Given the description of an element on the screen output the (x, y) to click on. 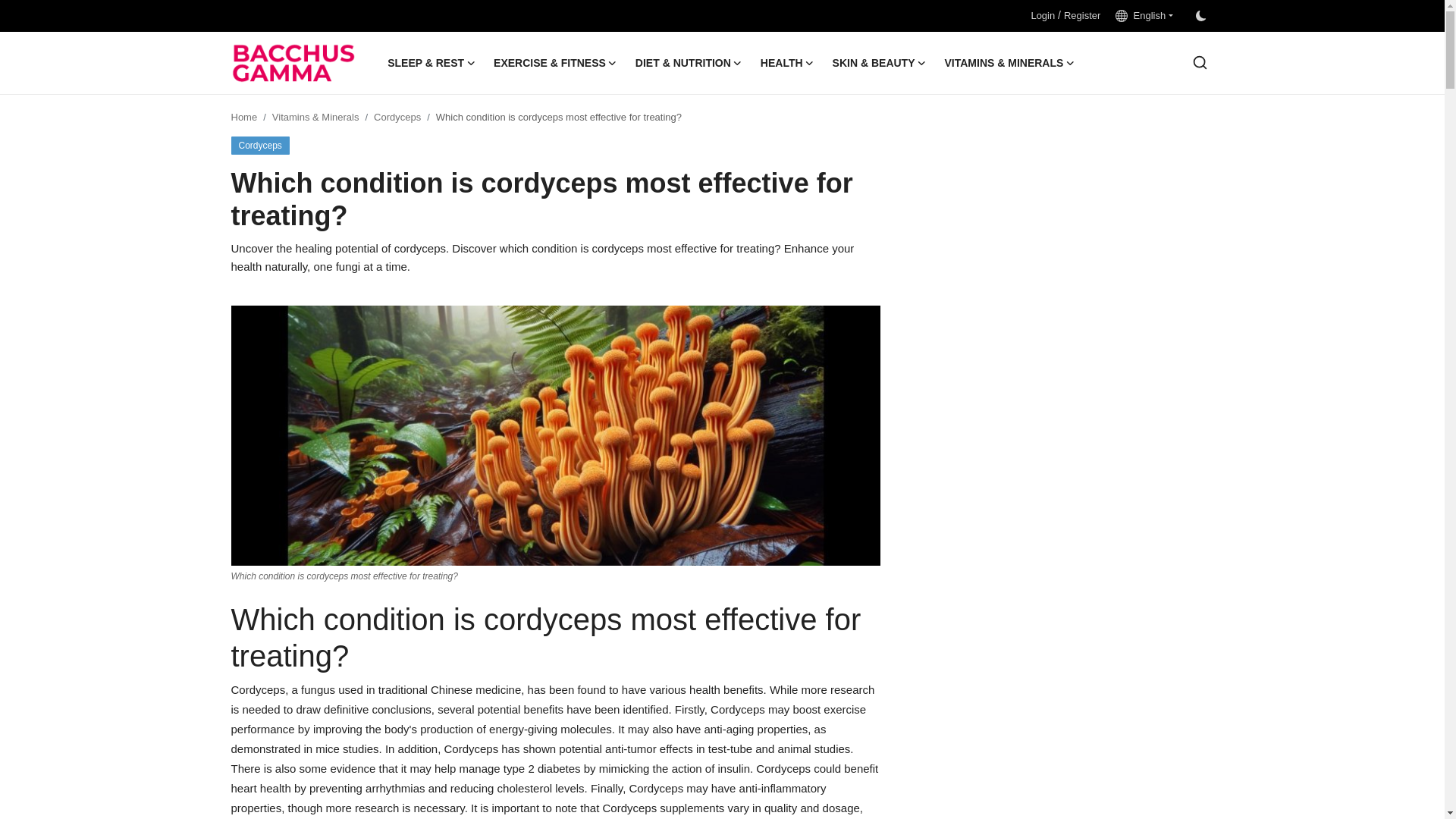
  English (1143, 15)
dark (1200, 15)
HEALTH (787, 62)
Login (1042, 15)
Register (1082, 15)
